Given the description of an element on the screen output the (x, y) to click on. 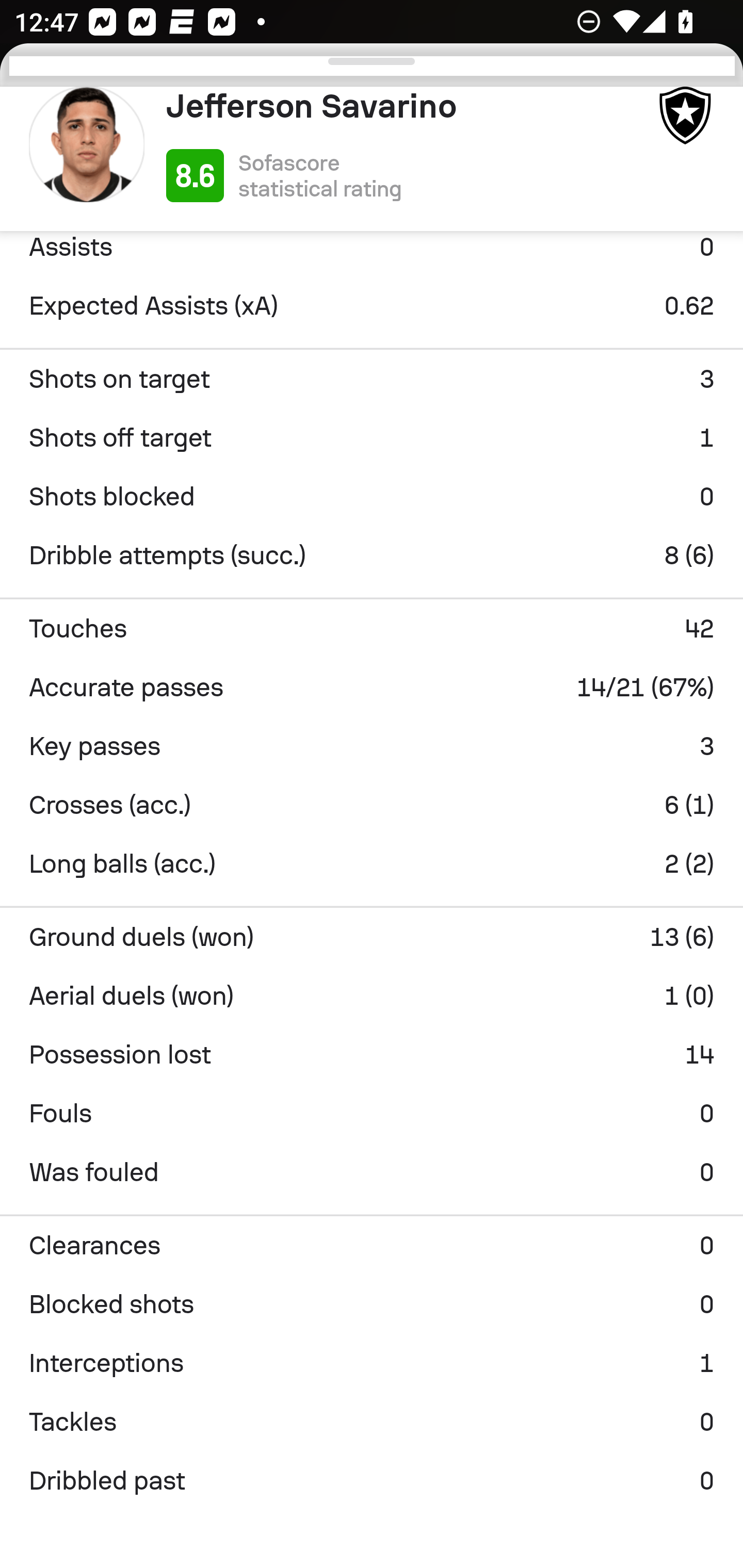
Jefferson Savarino (403, 105)
Assists 0 (371, 252)
Expected Assists (xA) 0.62 (371, 305)
Shots on target 3 (371, 379)
Shots off target 1 (371, 438)
Shots blocked 0 (371, 496)
Dribble attempts (succ.) 8 (6) (371, 555)
Touches 42 (371, 628)
Accurate passes 14/21 (67%) (371, 687)
Key passes 3 (371, 746)
Crosses (acc.) 6 (1) (371, 805)
Long balls (acc.) 2 (2) (371, 863)
Ground duels (won) 13 (6) (371, 936)
Aerial duels (won) 1 (0) (371, 995)
Possession lost 14 (371, 1054)
Fouls 0 (371, 1113)
Was fouled 0 (371, 1172)
Clearances 0 (371, 1245)
Blocked shots 0 (371, 1304)
Interceptions 1 (371, 1363)
Tackles 0 (371, 1421)
Dribbled past 0 (371, 1480)
